Given the description of an element on the screen output the (x, y) to click on. 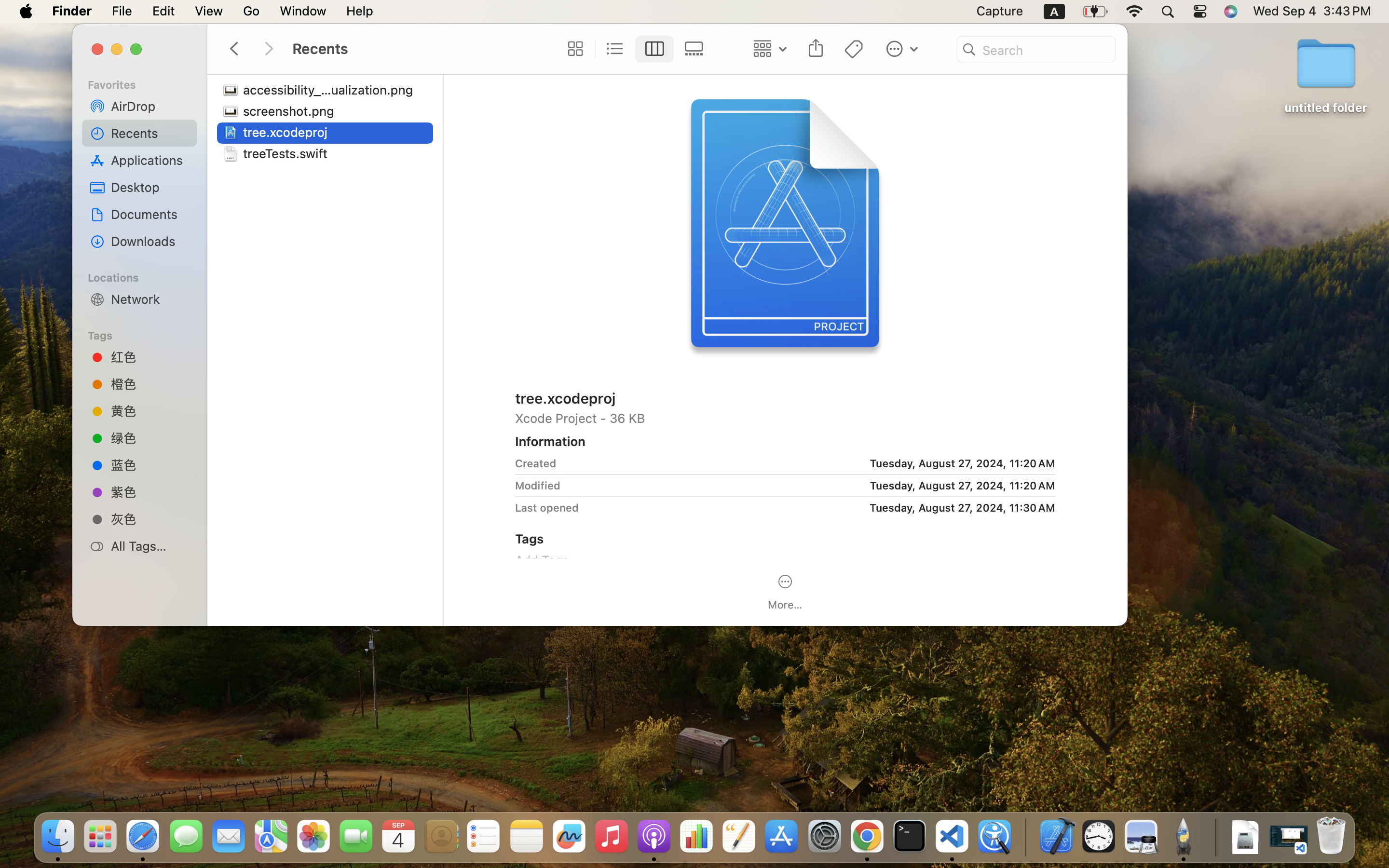
tree.xcodeproj Element type: AXTextField (287, 131)
Network Element type: AXStaticText (149, 298)
黄色 Element type: AXStaticText (149, 410)
Tags Element type: AXStaticText (144, 334)
紫色 Element type: AXStaticText (149, 491)
